Given the description of an element on the screen output the (x, y) to click on. 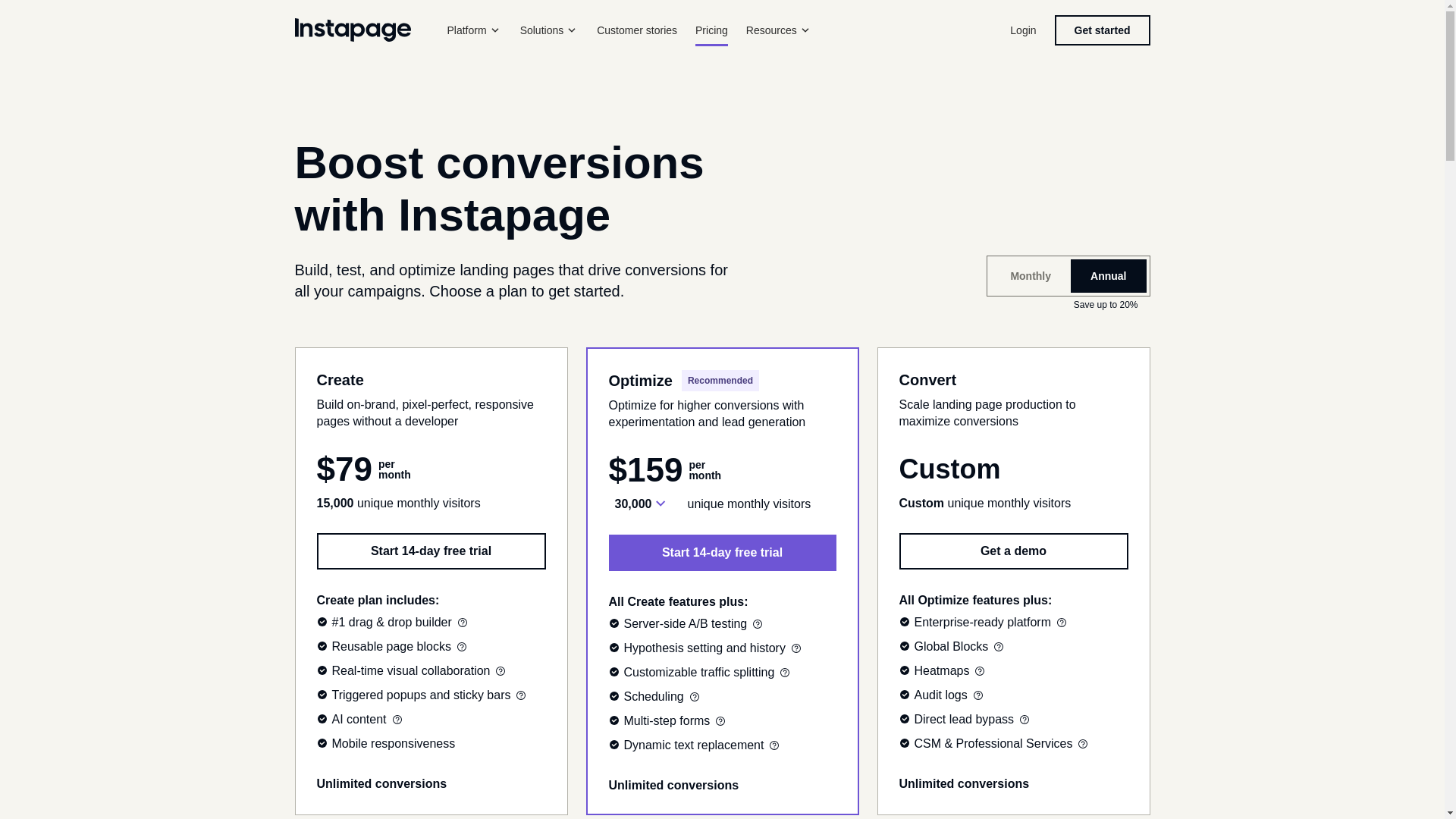
Get started (1102, 30)
Login (1022, 30)
Pricing (711, 30)
Customer stories (636, 30)
